Given the description of an element on the screen output the (x, y) to click on. 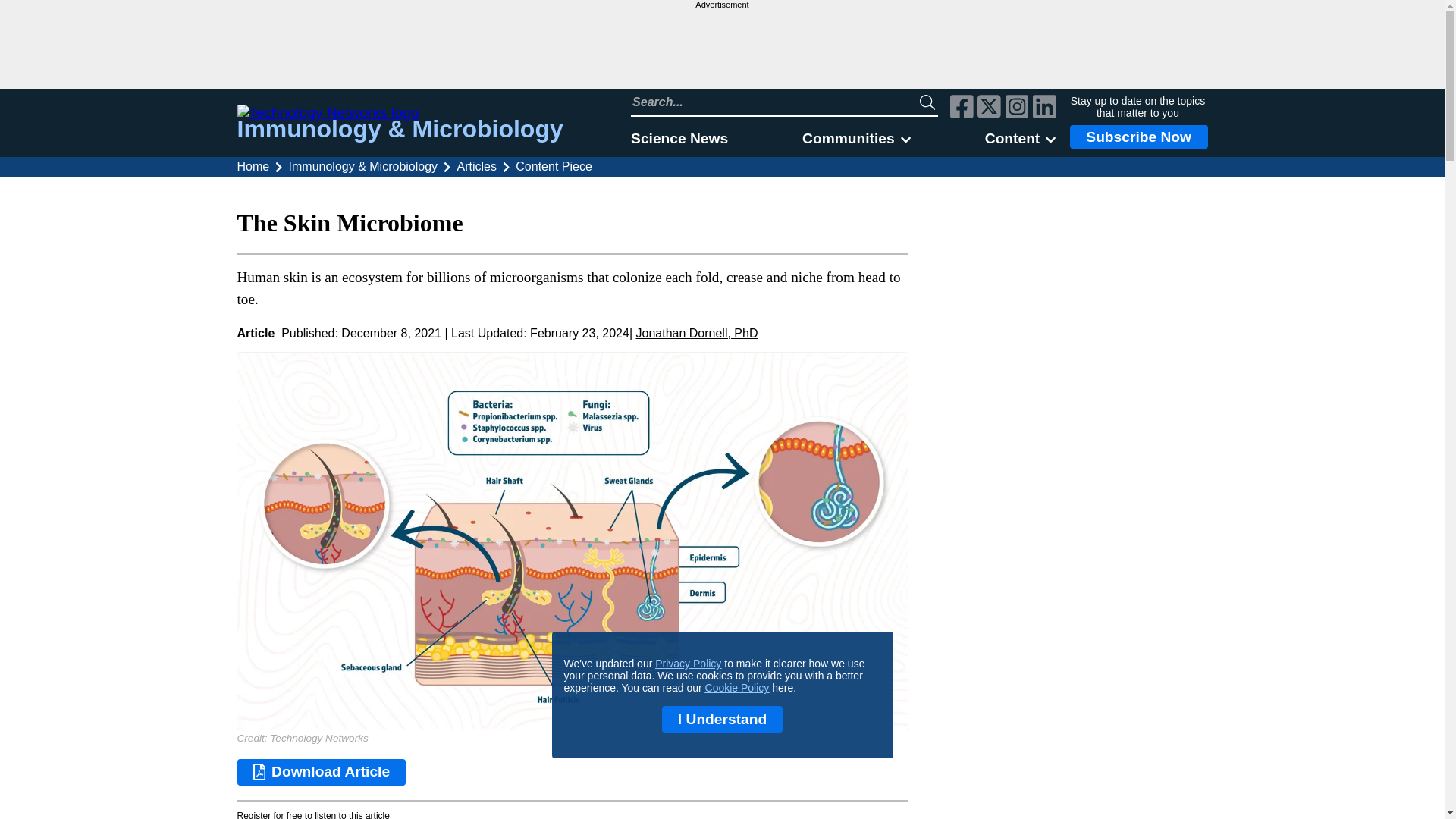
Privacy Policy (687, 663)
Search Technology Networks website input field (775, 102)
Cookie Policy (737, 687)
I Understand (722, 718)
Technology Networks logo (398, 112)
